Given the description of an element on the screen output the (x, y) to click on. 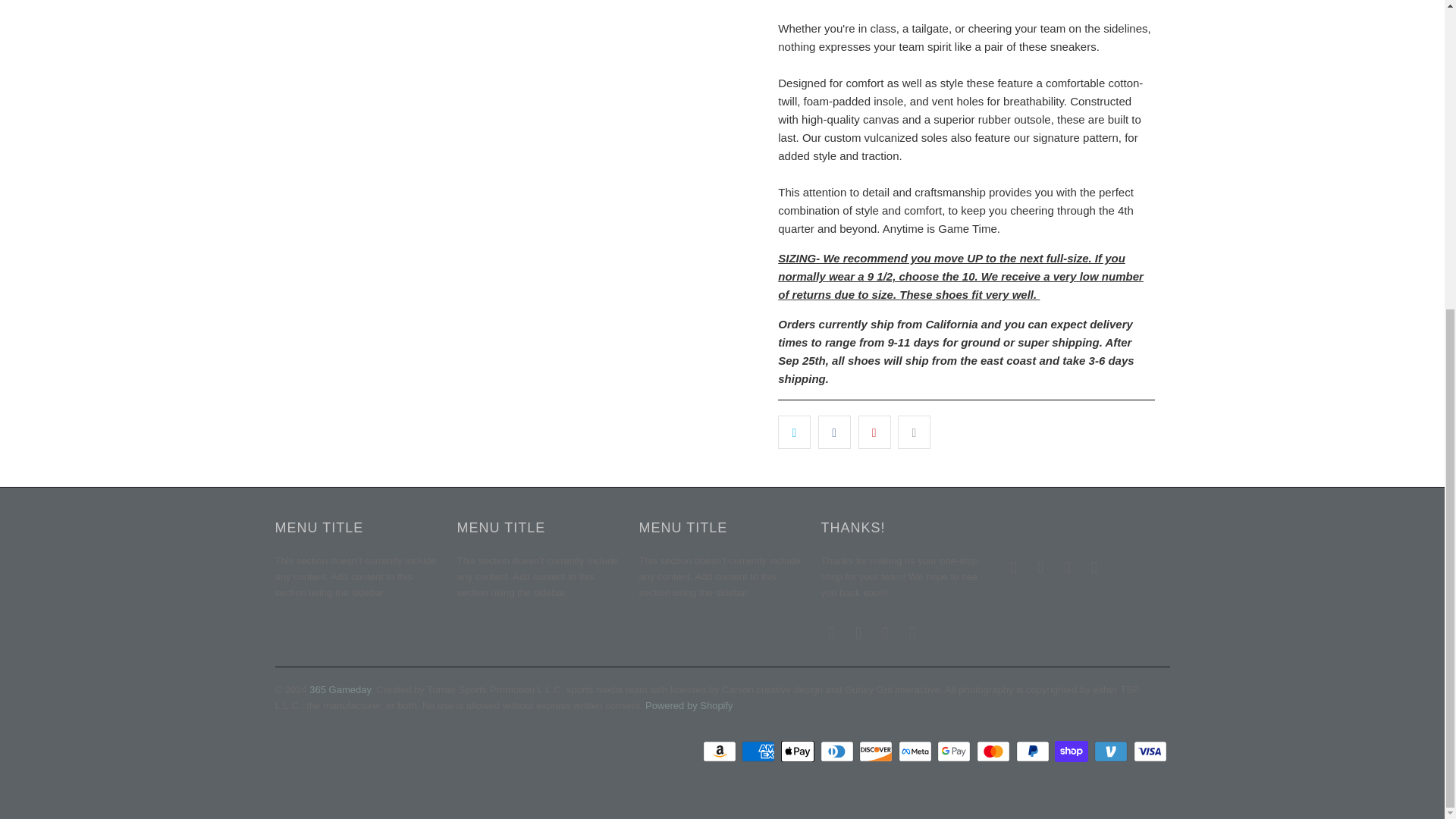
Amazon (721, 751)
365 Gameday on Facebook (858, 633)
Email this to a friend (914, 431)
365 Gameday on Instagram (885, 633)
American Express (759, 751)
Diners Club (839, 751)
Share this on Twitter (793, 431)
Shop Pay (1072, 751)
Mastercard (994, 751)
Meta Pay (916, 751)
